Given the description of an element on the screen output the (x, y) to click on. 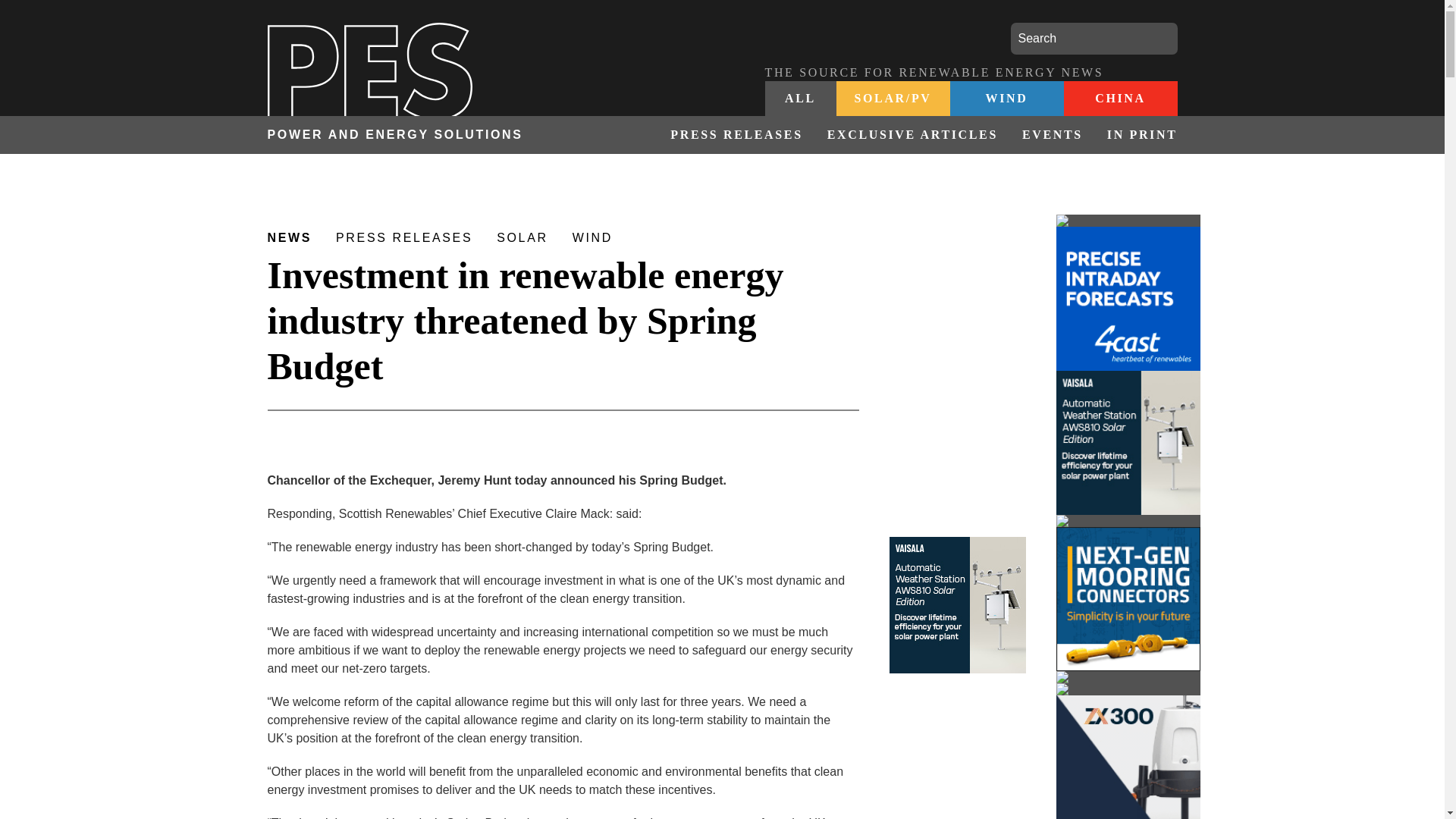
IN PRINT (1135, 134)
PRESS RELEASES (735, 134)
EVENTS (1052, 134)
EXCLUSIVE ARTICLES (912, 134)
ALL (799, 98)
CHINA (1119, 98)
WIND (1005, 98)
Search for: (1093, 38)
